Given the description of an element on the screen output the (x, y) to click on. 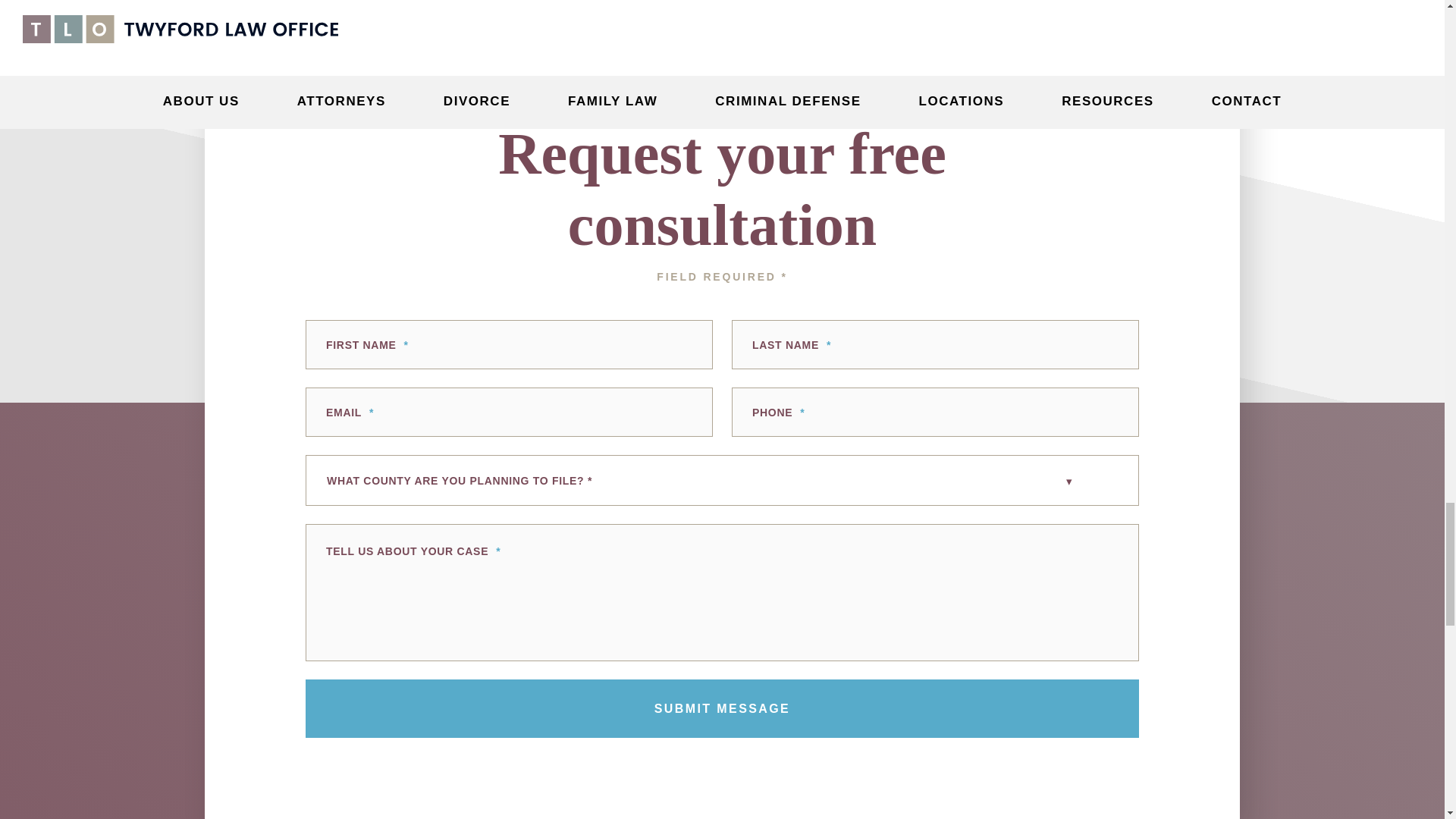
Submit Message (721, 708)
